Given the description of an element on the screen output the (x, y) to click on. 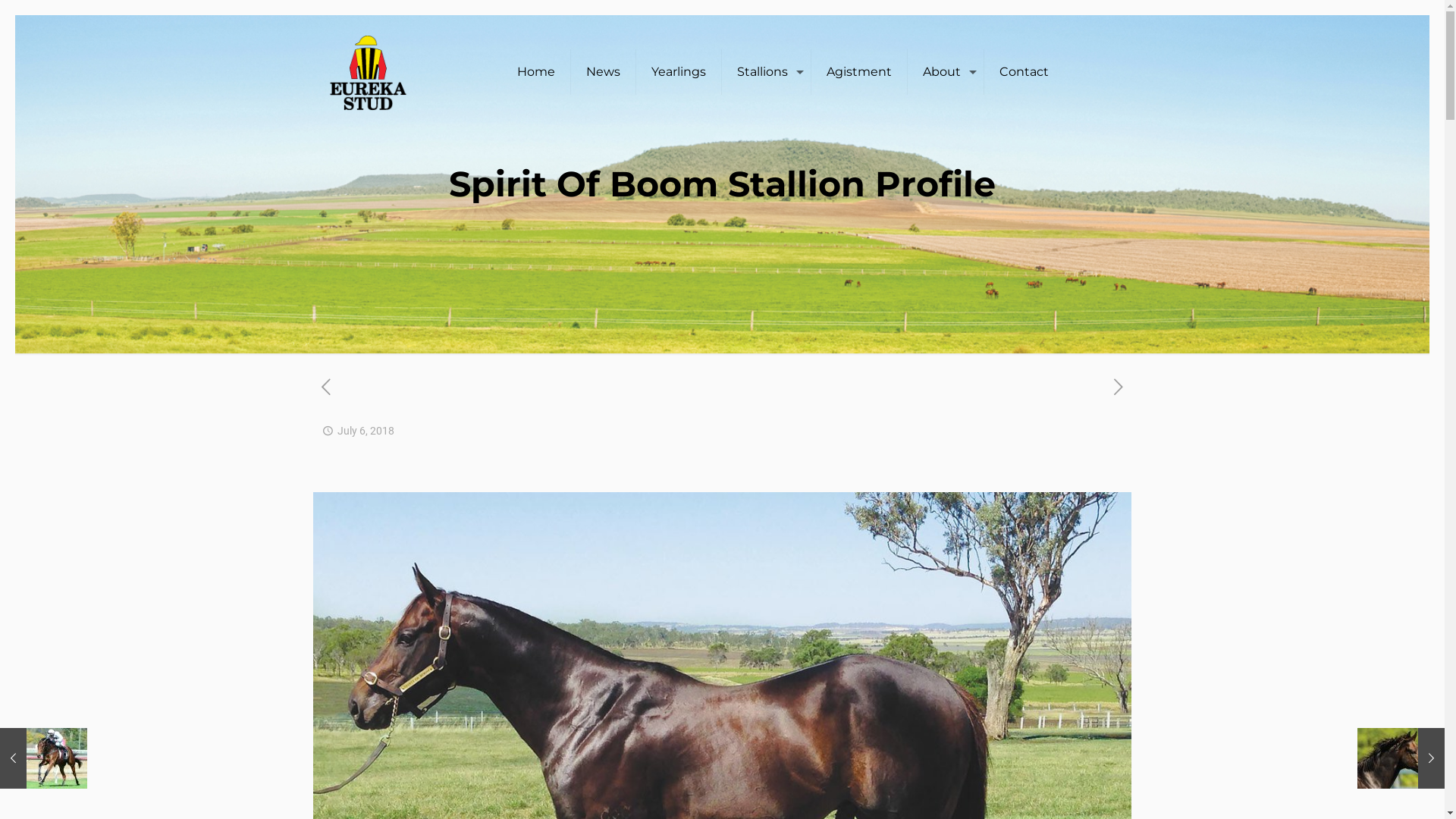
Agistment Element type: text (859, 71)
News Element type: text (603, 71)
Yearlings Element type: text (678, 71)
About Element type: text (945, 71)
Home Element type: text (536, 71)
Stallions Element type: text (766, 71)
Contact Element type: text (1023, 71)
Eureka Stud Element type: hover (367, 71)
